Given the description of an element on the screen output the (x, y) to click on. 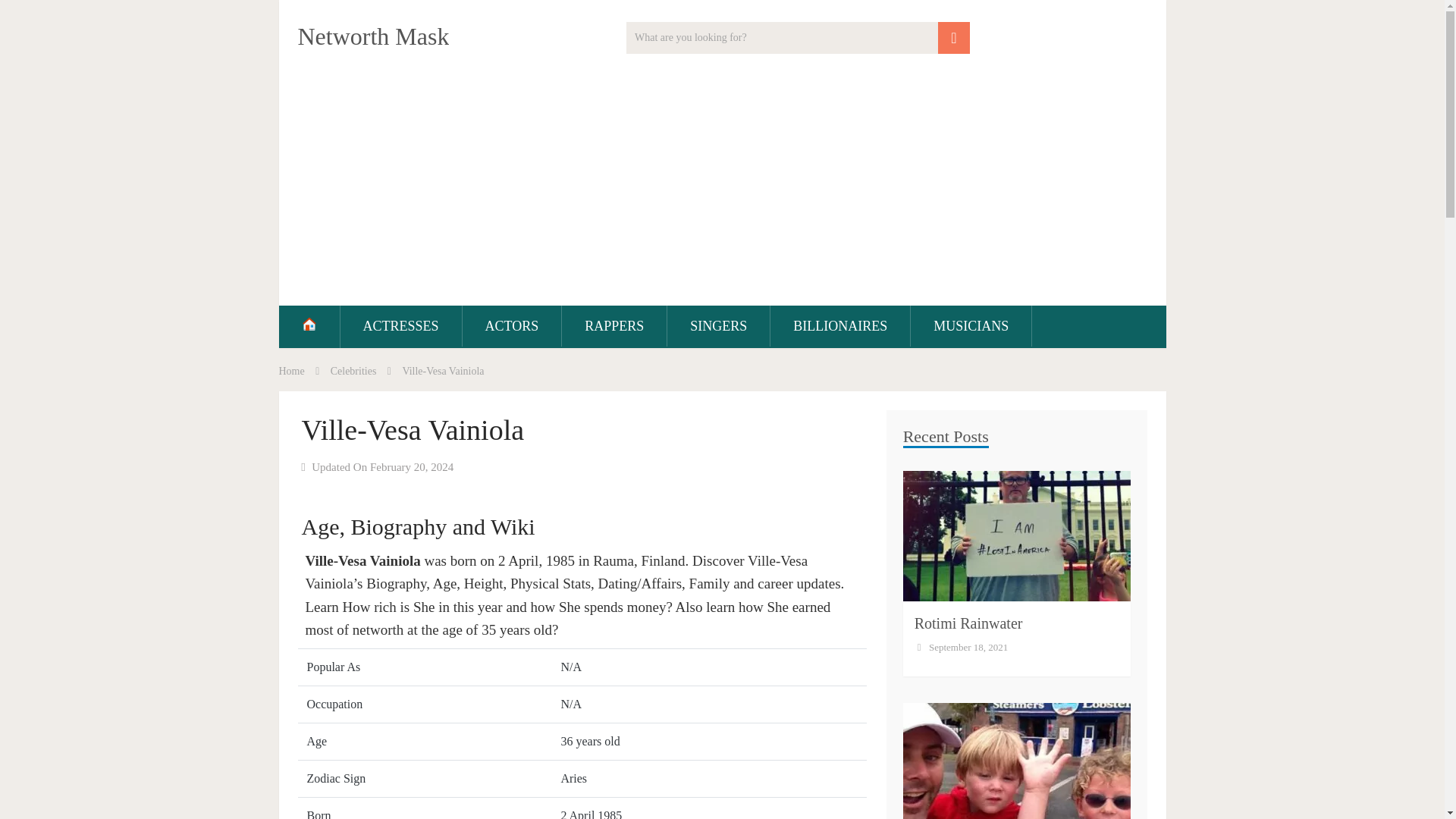
ACTORS (512, 325)
RAPPERS (614, 325)
Networth Mask (372, 36)
ACTRESSES (400, 325)
Home (291, 370)
Celebrities (353, 370)
Rotimi Rainwater (968, 623)
MUSICIANS (970, 325)
SINGERS (718, 325)
BILLIONAIRES (840, 325)
Rotimi Rainwater (968, 623)
What are you looking for? (797, 38)
